Given the description of an element on the screen output the (x, y) to click on. 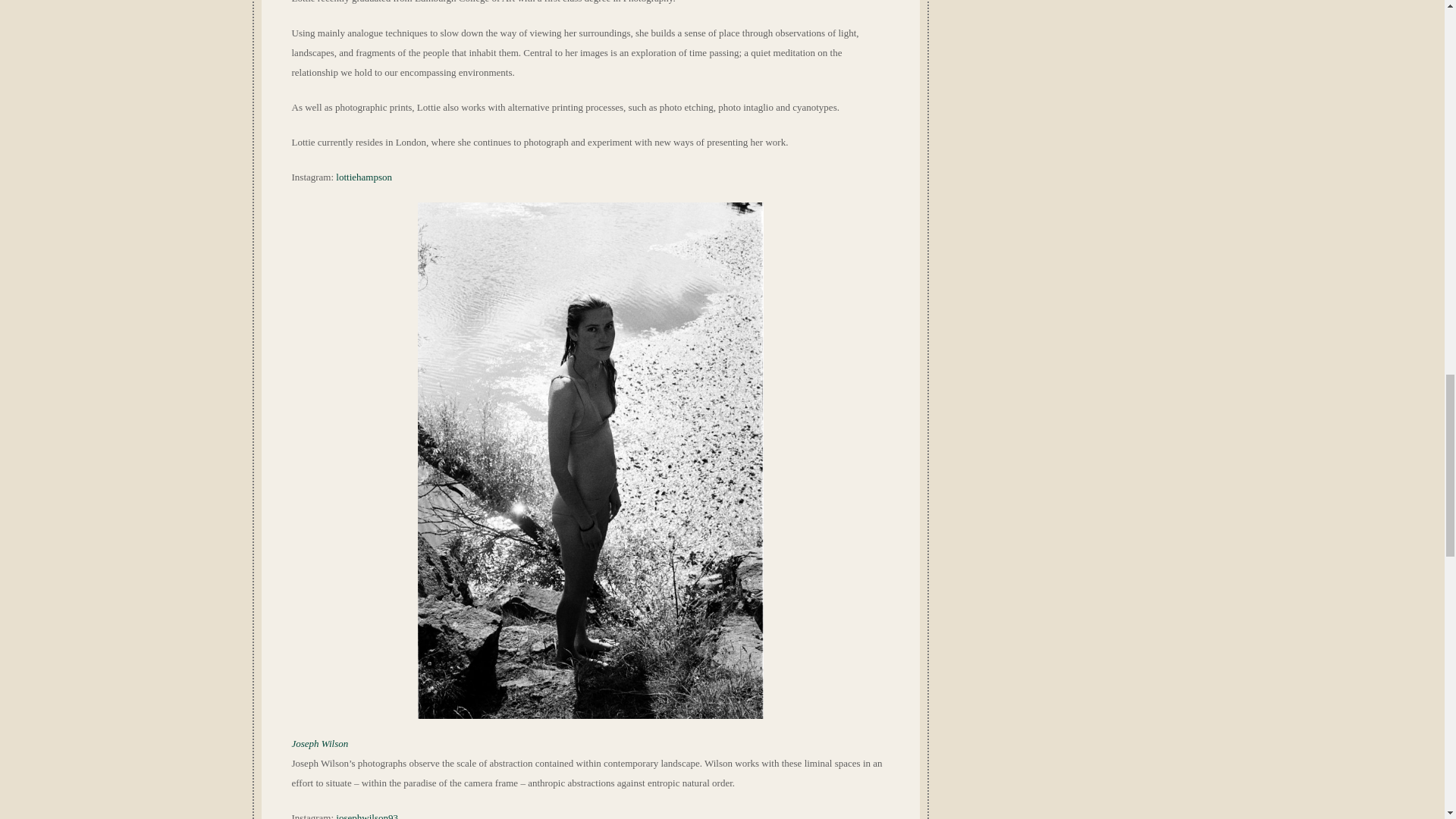
lottiehampson (363, 176)
josephwilson93 (366, 815)
Joseph Wilson (319, 743)
